Given the description of an element on the screen output the (x, y) to click on. 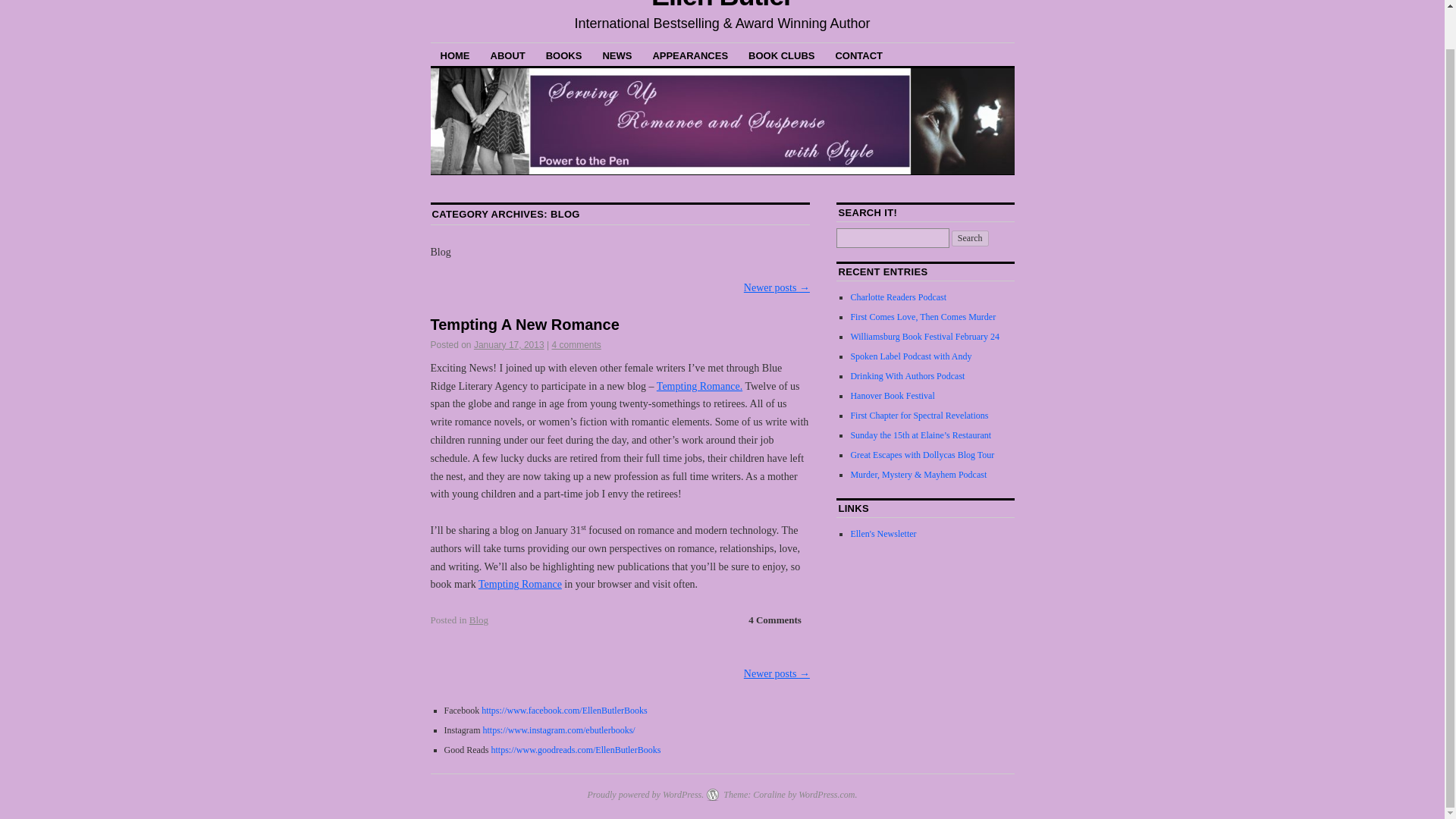
Search (970, 238)
APPEARANCES (690, 55)
Ellen Butler (721, 5)
Search (970, 238)
Tempting Romance (699, 386)
Tempting Romance (520, 583)
Hanover Book Festival (892, 395)
Tempting Romance (520, 583)
Charlotte Readers Podcast (898, 296)
Ellen's Newsletter (882, 533)
Drinking With Authors Podcast (906, 376)
NEWS (617, 55)
BOOKS (563, 55)
HOME (455, 55)
4 Comments (775, 619)
